Given the description of an element on the screen output the (x, y) to click on. 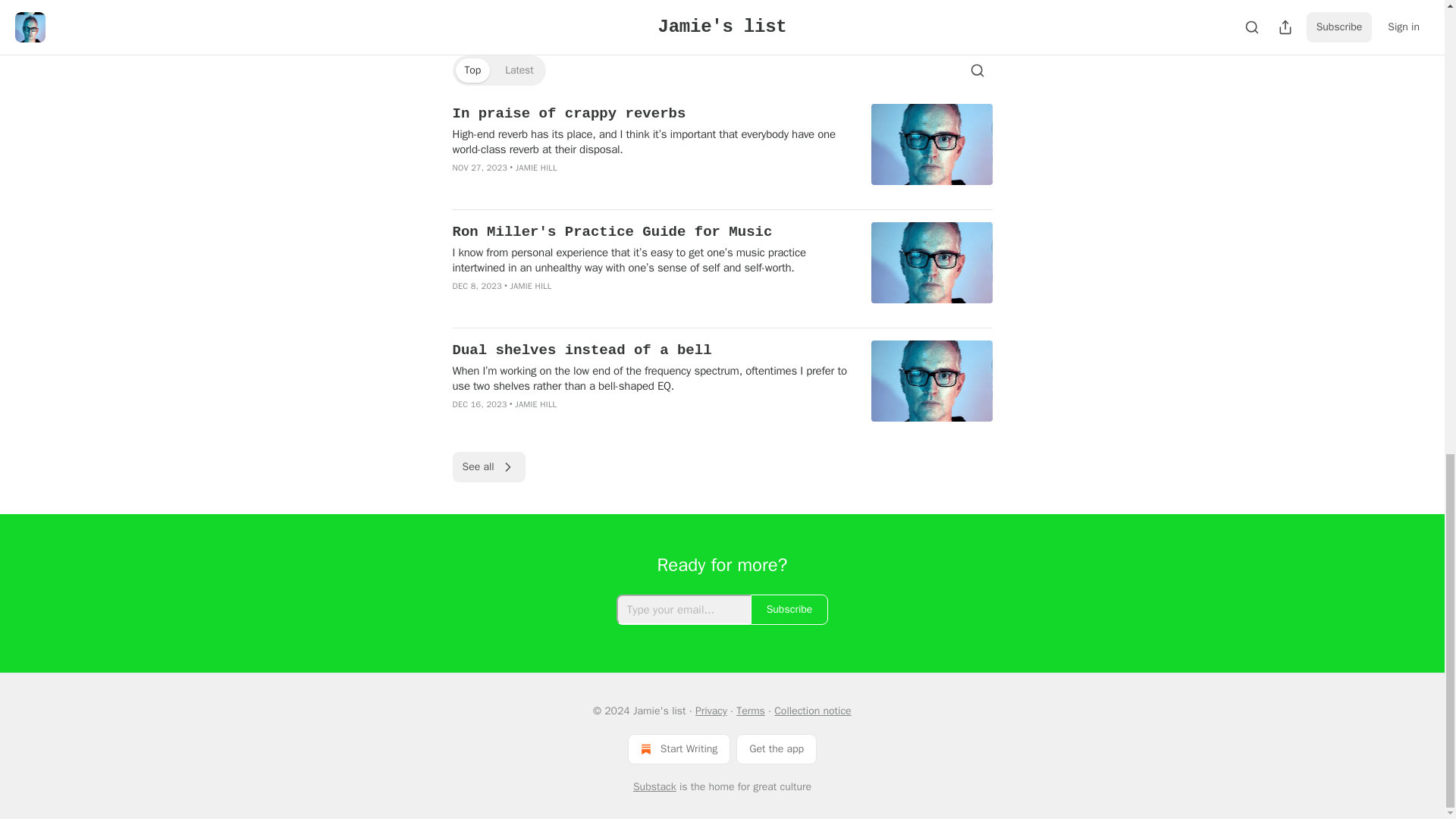
JAMIE HILL (535, 403)
Terms (750, 710)
In praise of crappy reverbs (651, 113)
See all (487, 467)
Top (471, 70)
Start Writing (678, 748)
Privacy (710, 710)
Collection notice (812, 710)
JAMIE HILL (536, 167)
Get the app (776, 748)
